Given the description of an element on the screen output the (x, y) to click on. 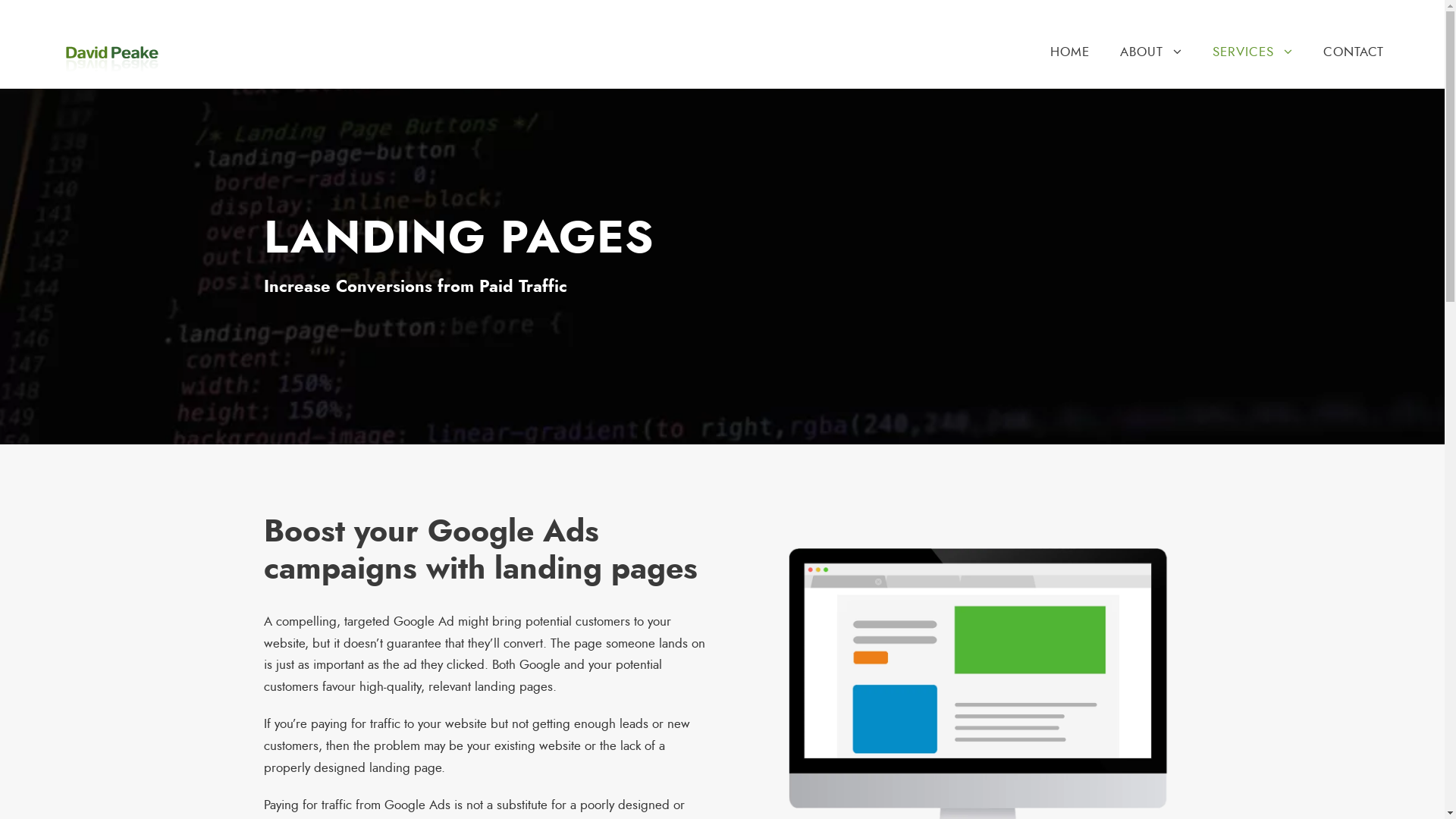
HOME Element type: text (1069, 64)
SERVICES Element type: text (1252, 64)
CONTACT Element type: text (1353, 64)
ABOUT Element type: text (1151, 64)
